Given the description of an element on the screen output the (x, y) to click on. 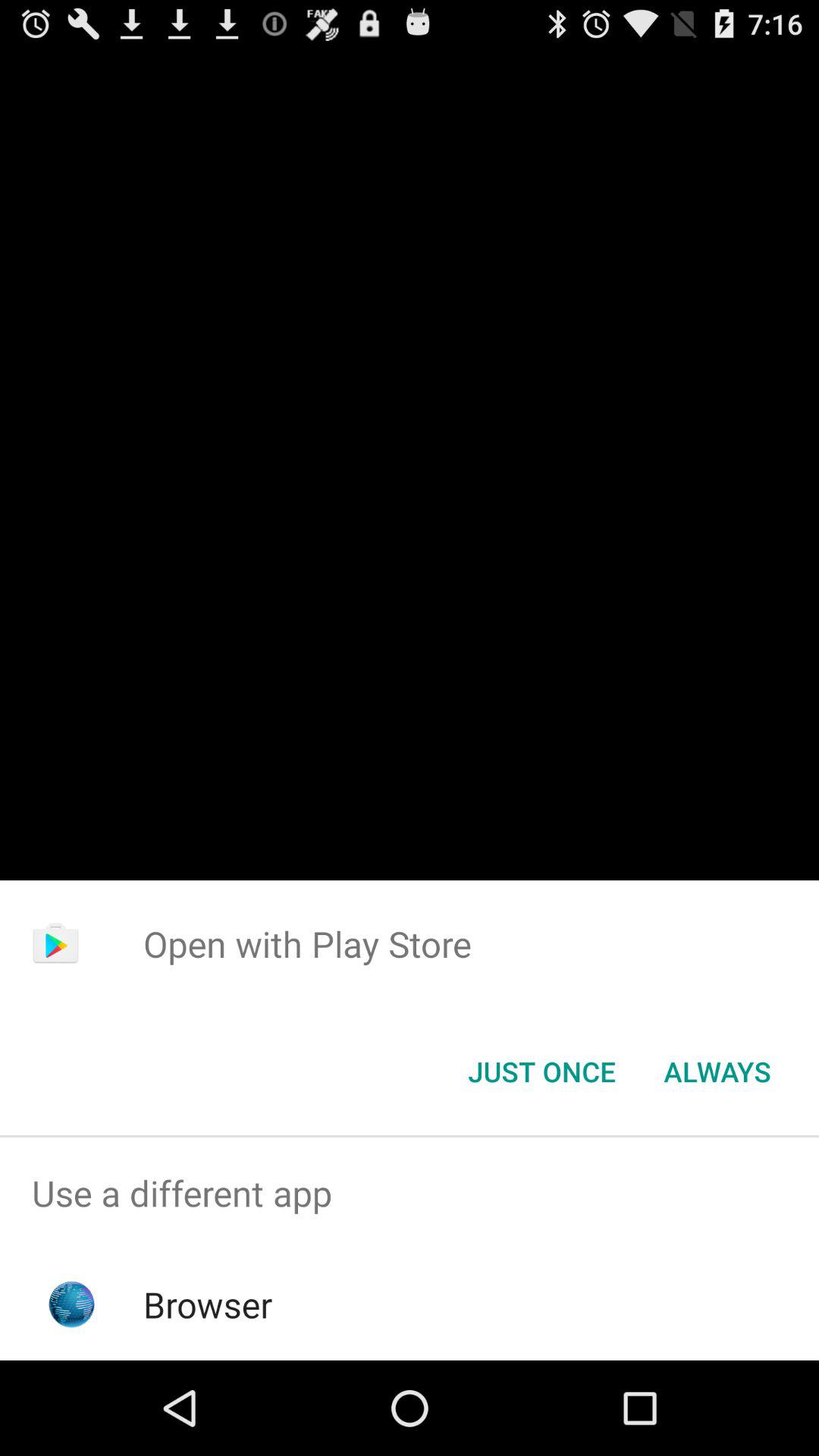
press the icon next to always item (541, 1071)
